Given the description of an element on the screen output the (x, y) to click on. 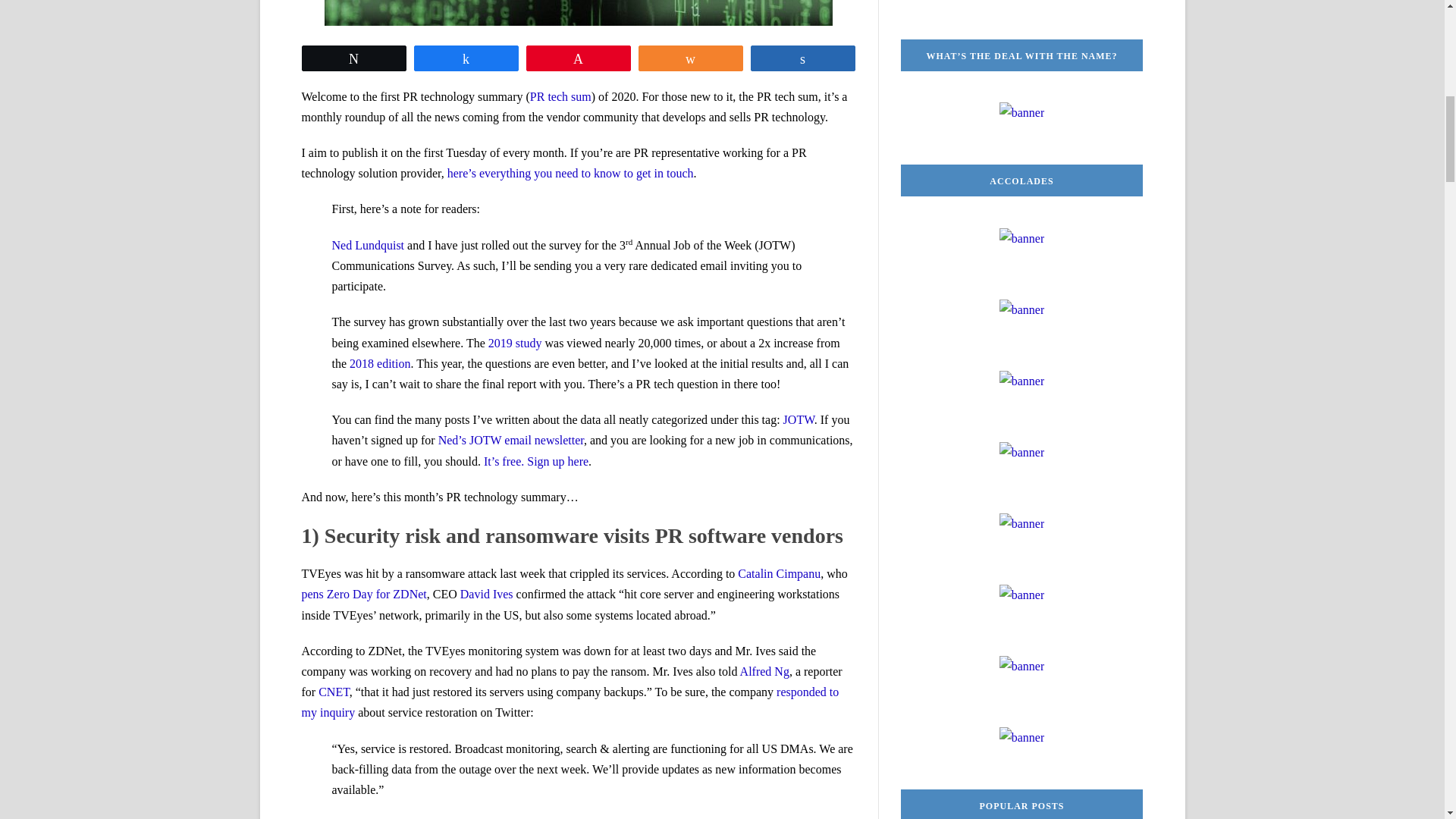
2019 study (514, 342)
PR tech sum (560, 96)
Ned Lundquist (367, 245)
